Given the description of an element on the screen output the (x, y) to click on. 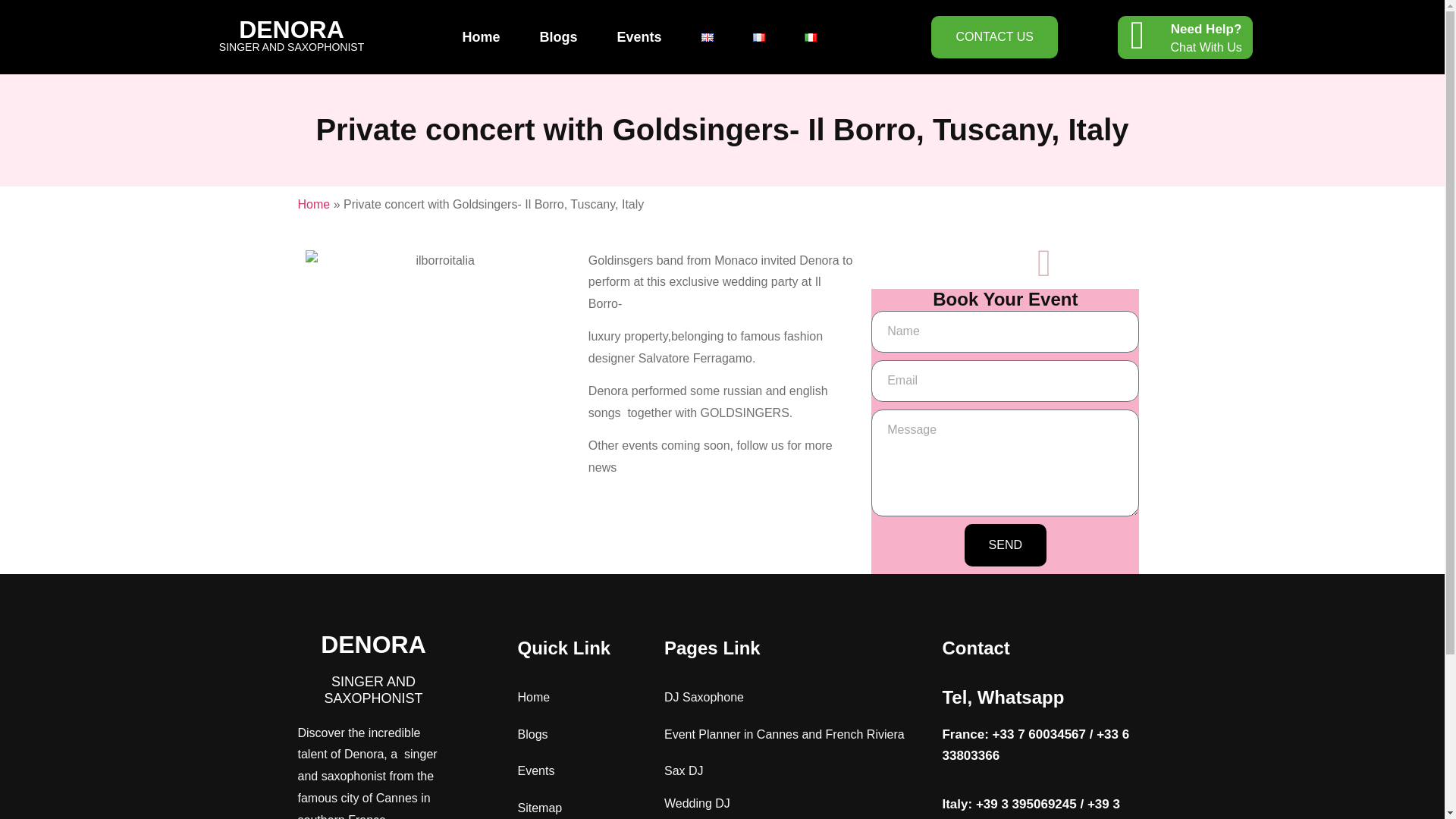
Sitemap (539, 807)
Home (480, 36)
Blogs (531, 734)
CONTACT US (994, 36)
Need Help? (1205, 29)
Event Planner in Cannes and French Riviera (783, 734)
Events (639, 36)
Wedding DJ (696, 802)
Home (313, 204)
Home (533, 697)
Blogs (558, 36)
Sax DJ (683, 770)
Events (535, 770)
SEND (1004, 545)
DJ Saxophone (703, 697)
